Given the description of an element on the screen output the (x, y) to click on. 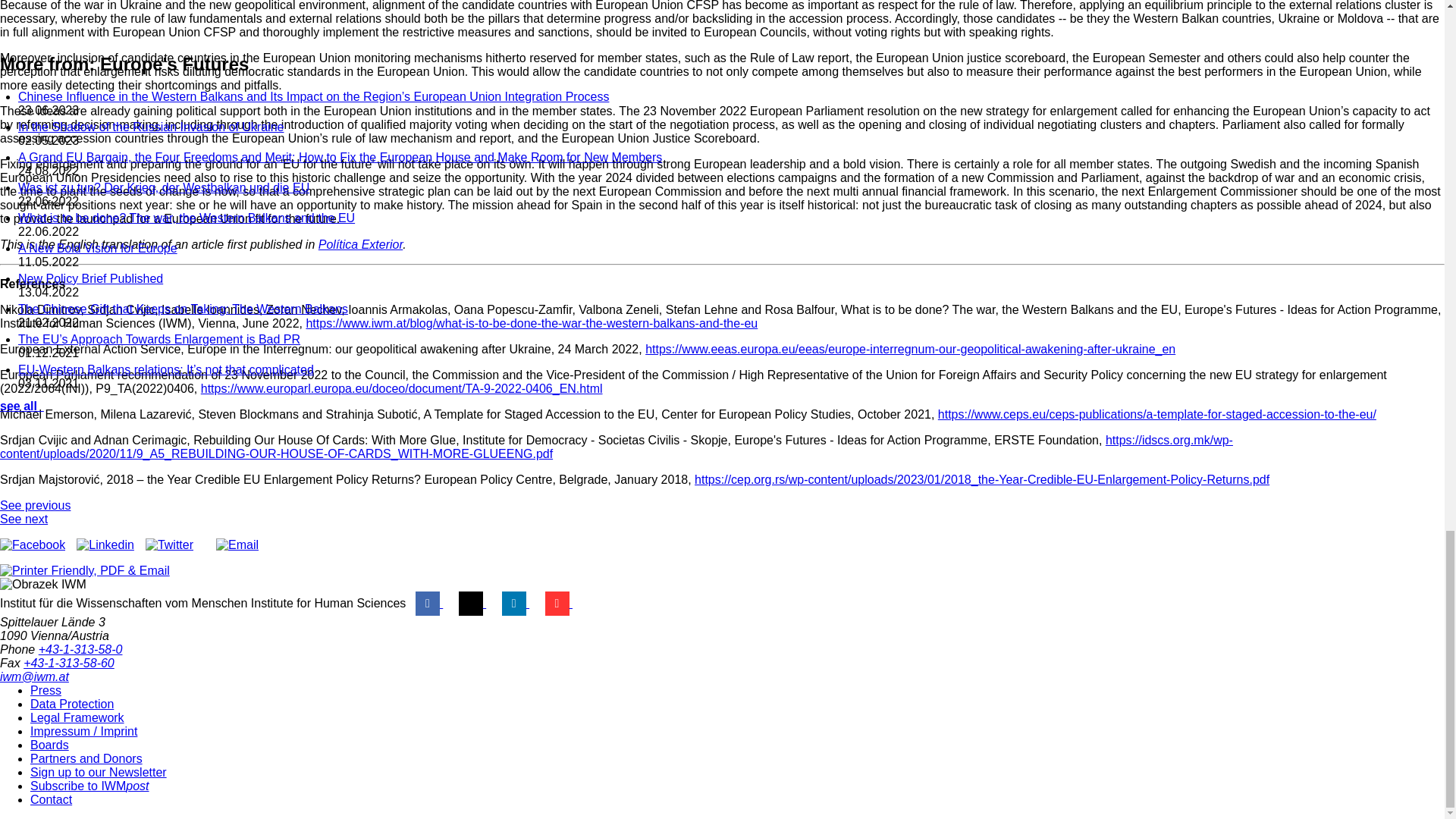
Facebook (32, 544)
Facebook (428, 603)
Twitter (169, 544)
Email (237, 544)
YouTube (558, 603)
Twitter (472, 603)
LinkedIn (515, 603)
Linkedin (105, 544)
In the Shadow of the Russian Invasion of Ukraine (34, 504)
